Given the description of an element on the screen output the (x, y) to click on. 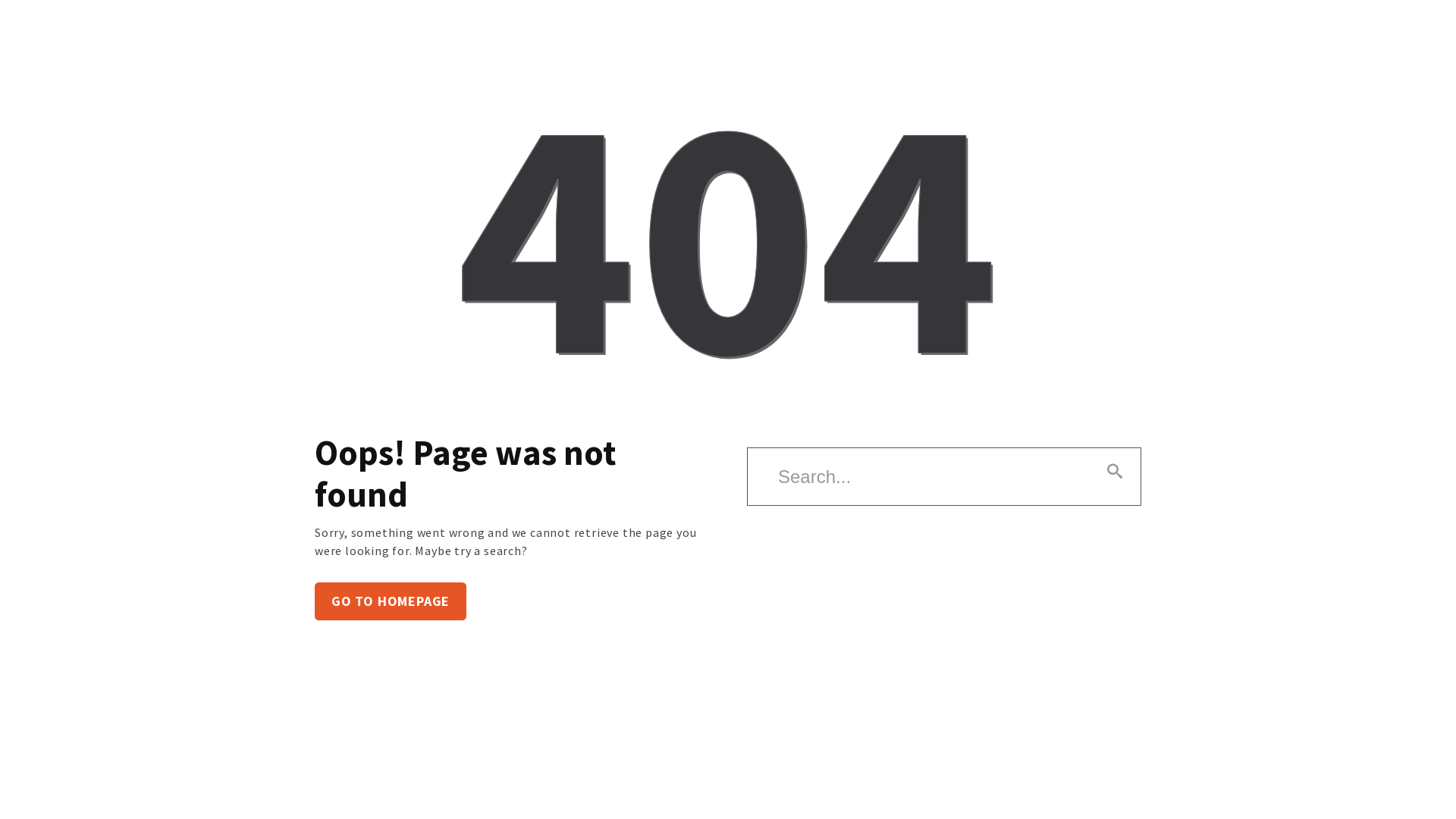
GO TO HOMEPAGE Element type: text (390, 601)
